Given the description of an element on the screen output the (x, y) to click on. 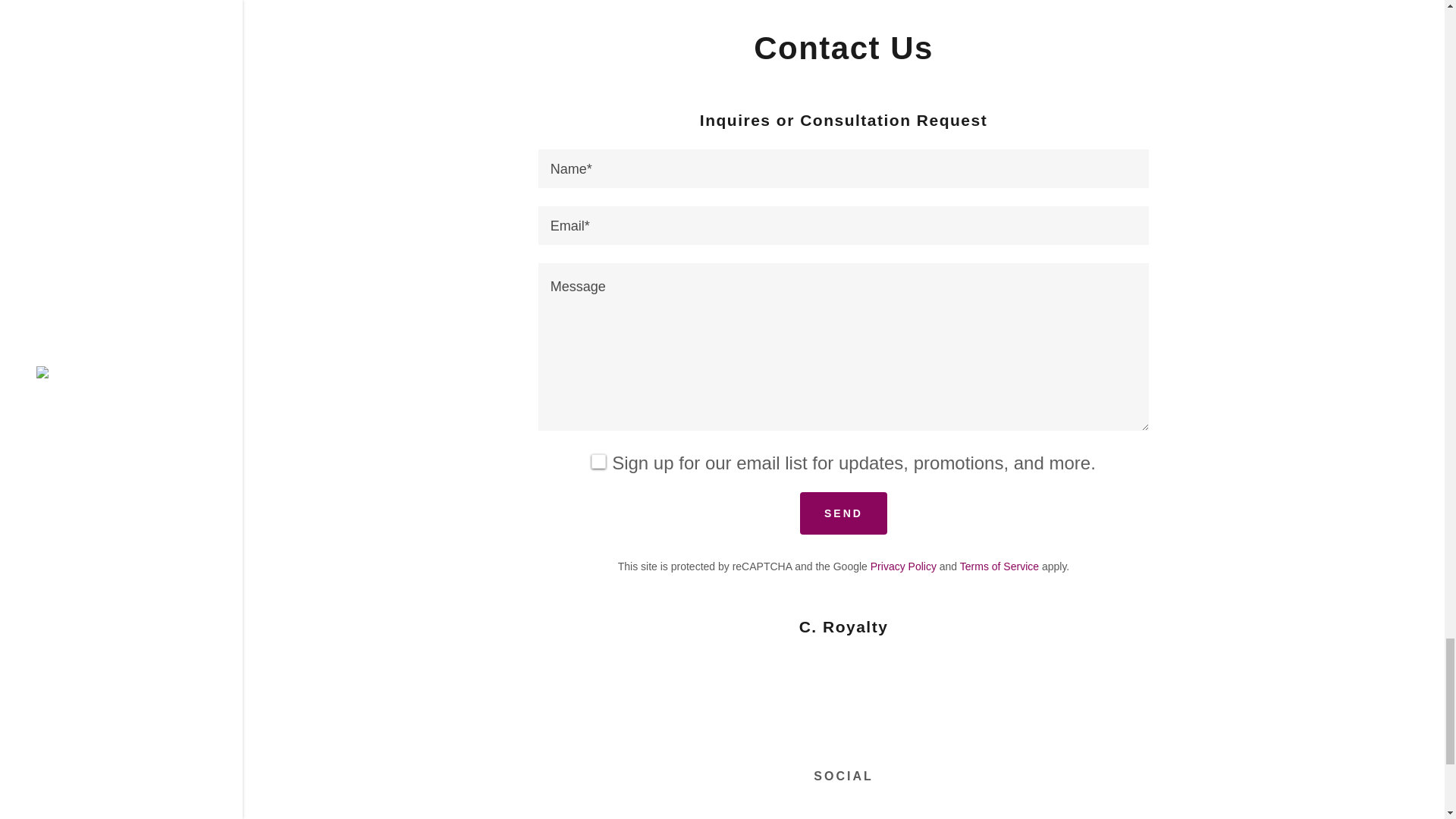
Privacy Policy (903, 565)
Terms of Service (999, 565)
SEND (842, 512)
